Given the description of an element on the screen output the (x, y) to click on. 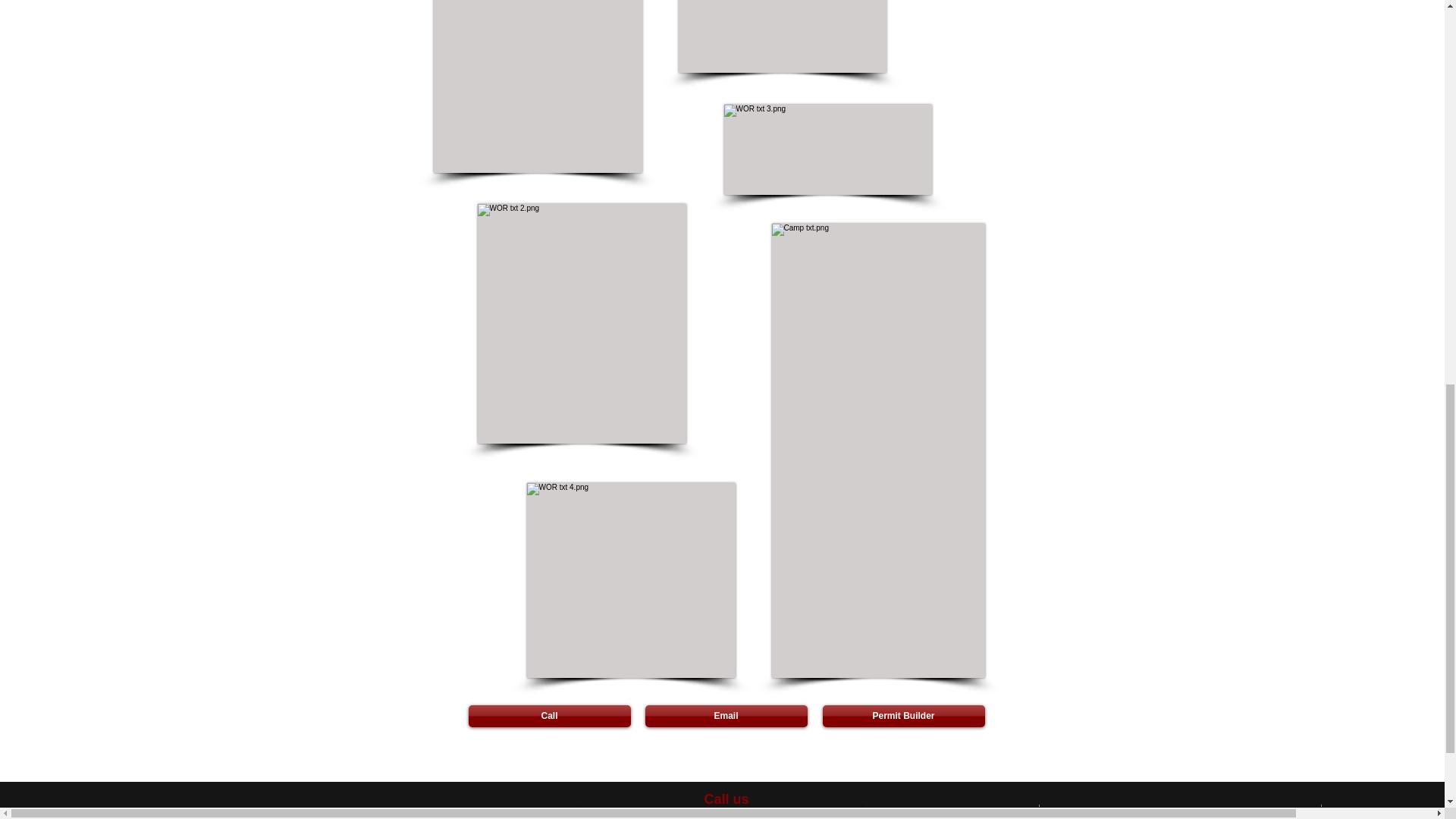
Permit Builder (903, 716)
Call (549, 716)
Email (725, 716)
